Given the description of an element on the screen output the (x, y) to click on. 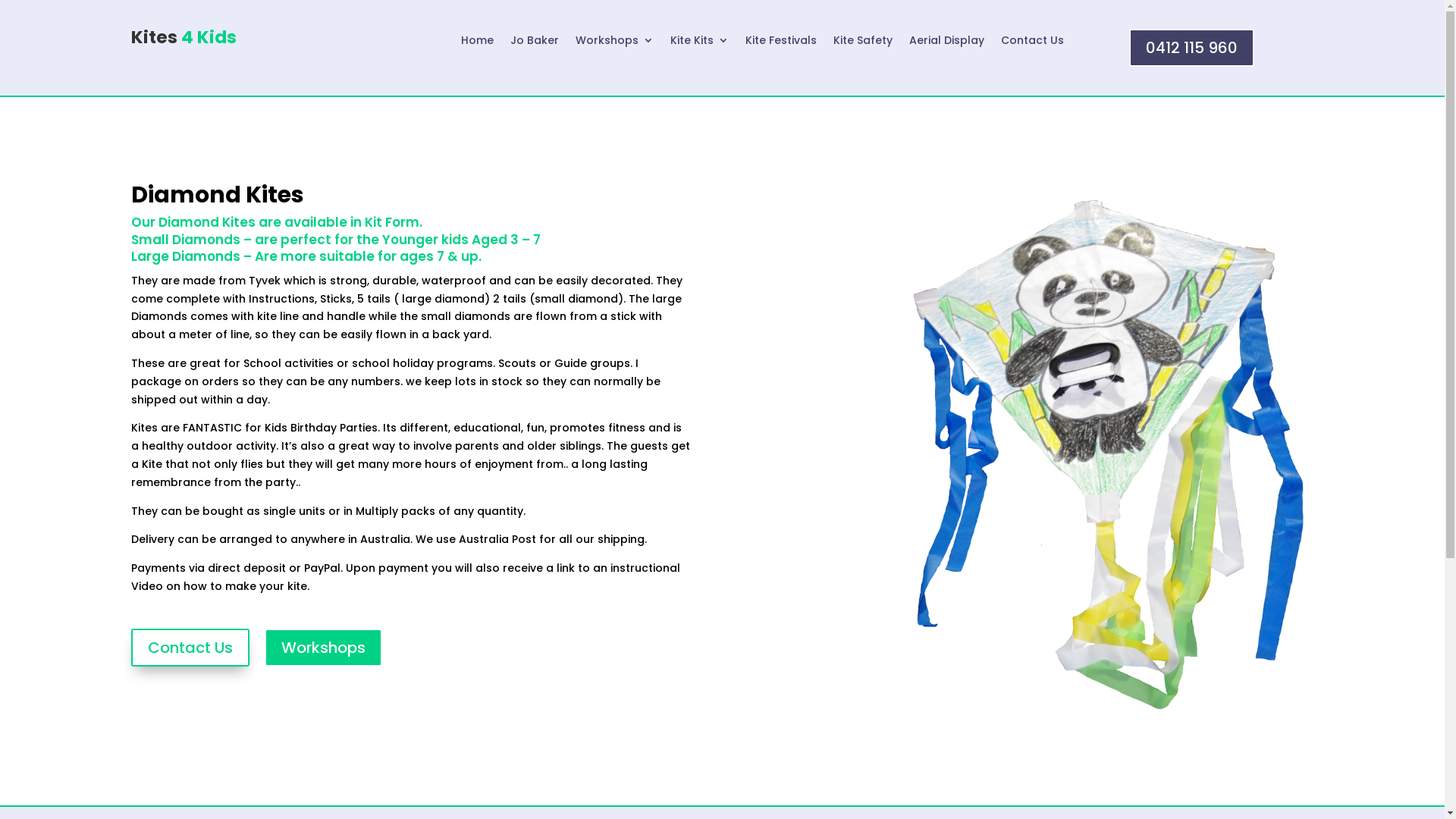
Home Element type: text (477, 42)
Workshops Element type: text (322, 647)
Large-Diamond-803x1024 Element type: hover (1104, 450)
Kite Kits Element type: text (699, 42)
Workshops Element type: text (614, 42)
0412 115 960 Element type: text (1191, 47)
Contact Us Element type: text (189, 647)
Kite Safety Element type: text (862, 42)
Jo Baker Element type: text (534, 42)
Aerial Display Element type: text (946, 42)
Contact Us Element type: text (1032, 42)
Kite Festivals Element type: text (780, 42)
